Given the description of an element on the screen output the (x, y) to click on. 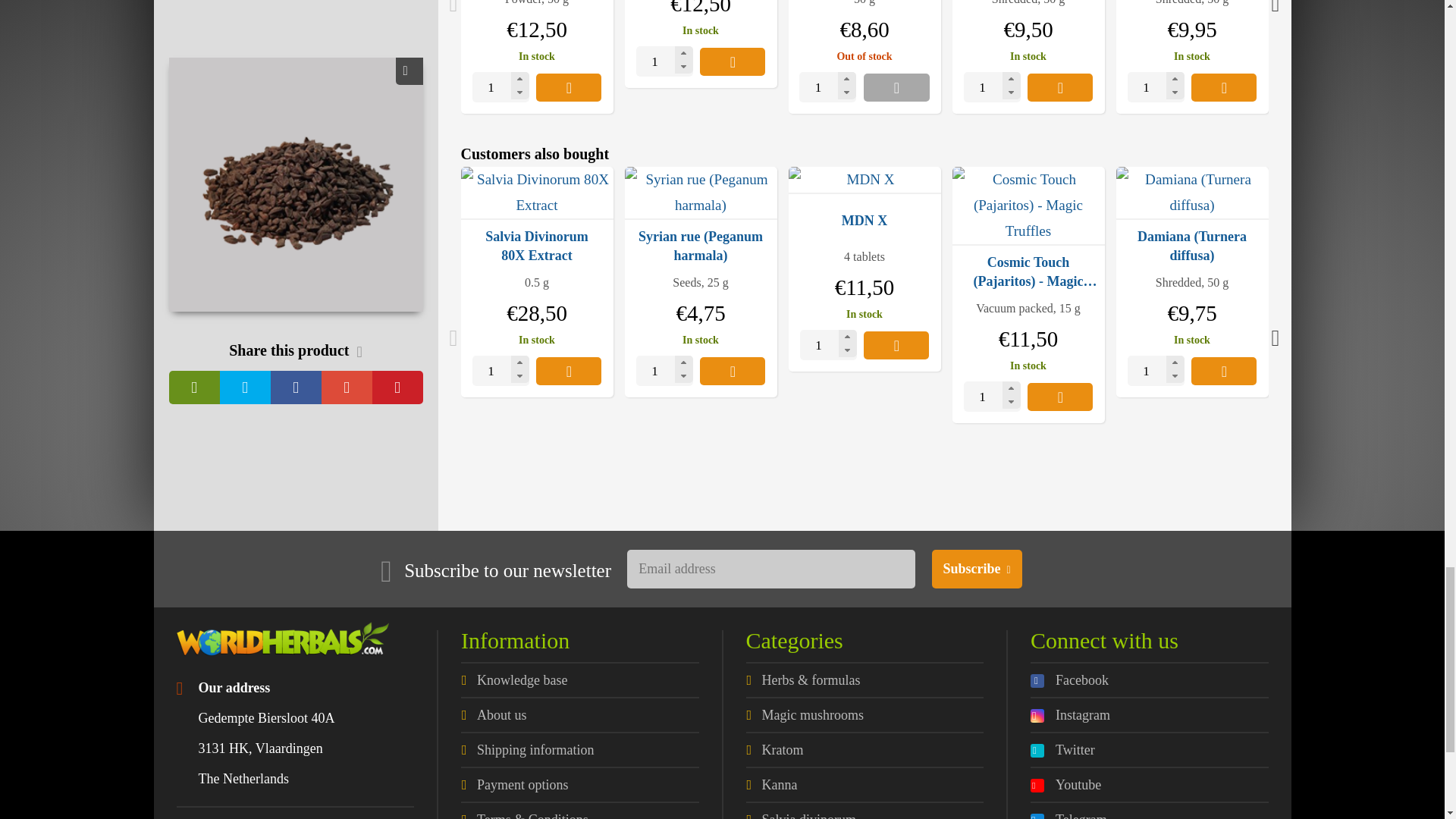
1 (991, 87)
1 (500, 87)
1 (828, 345)
1 (827, 87)
1 (1155, 370)
1 (991, 396)
1 (664, 60)
1 (1155, 87)
1 (664, 370)
1 (500, 370)
